Given the description of an element on the screen output the (x, y) to click on. 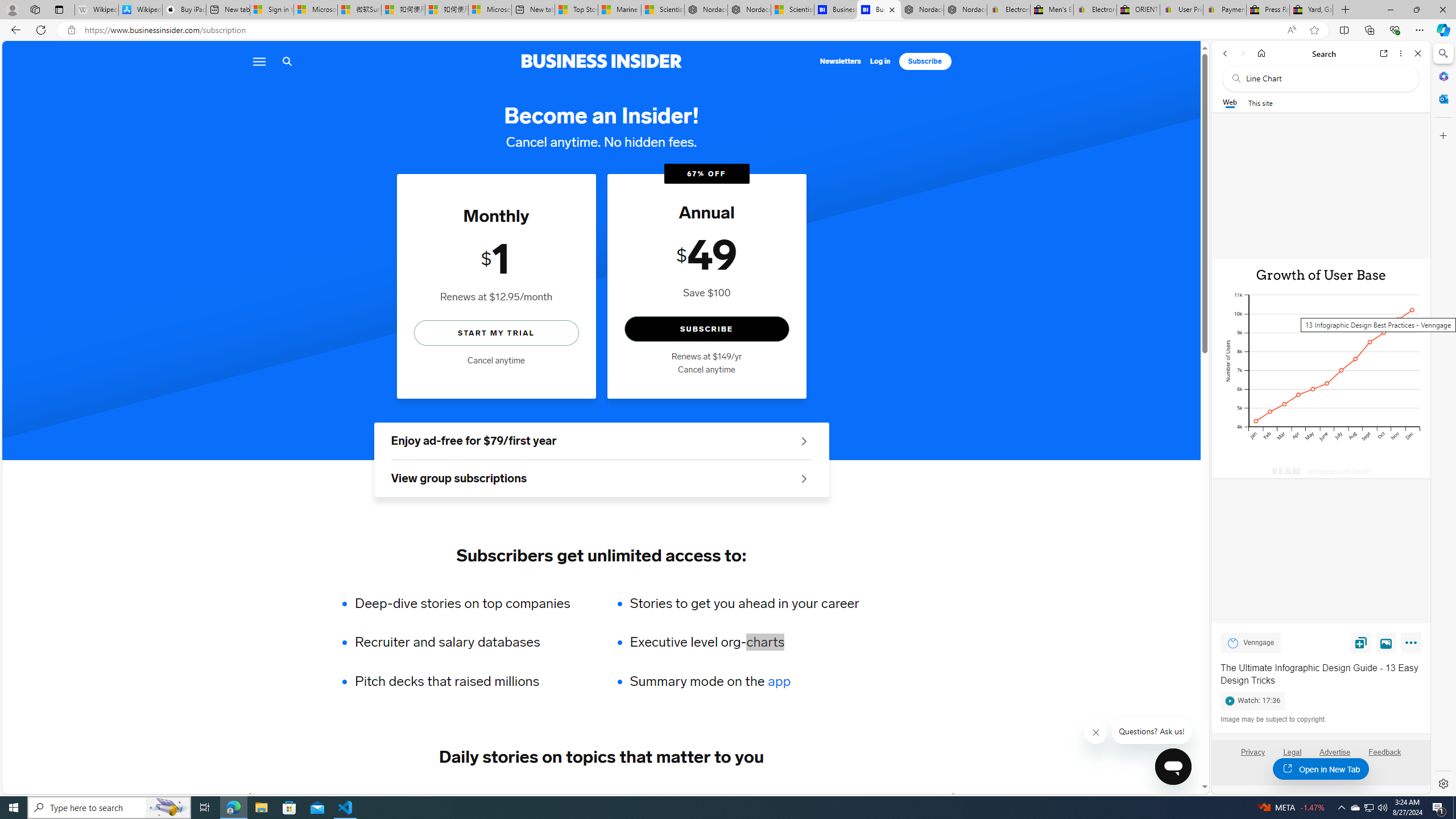
Save (1361, 642)
SUBSCRIBE (706, 329)
ADVERTISING (349, 796)
FINANCE (485, 796)
